Given the description of an element on the screen output the (x, y) to click on. 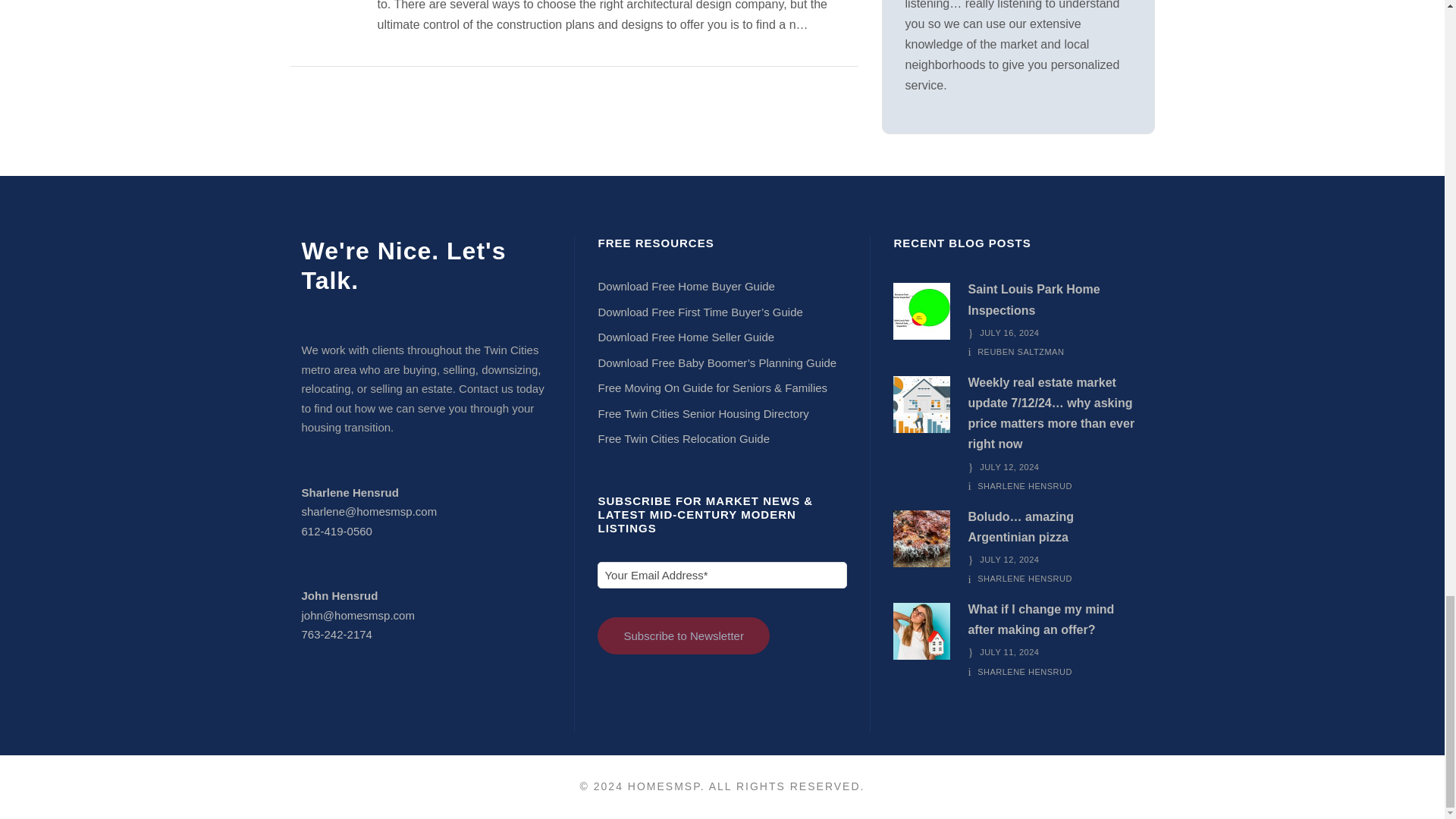
Posts by Sharlene Hensrud (1023, 485)
ST vs SLP Venn Diagram Square (921, 310)
Posts by Reuben Saltzman (1020, 351)
Subscribe to Newsletter (682, 635)
pricing2 (921, 404)
boludo1 (921, 538)
